Given the description of an element on the screen output the (x, y) to click on. 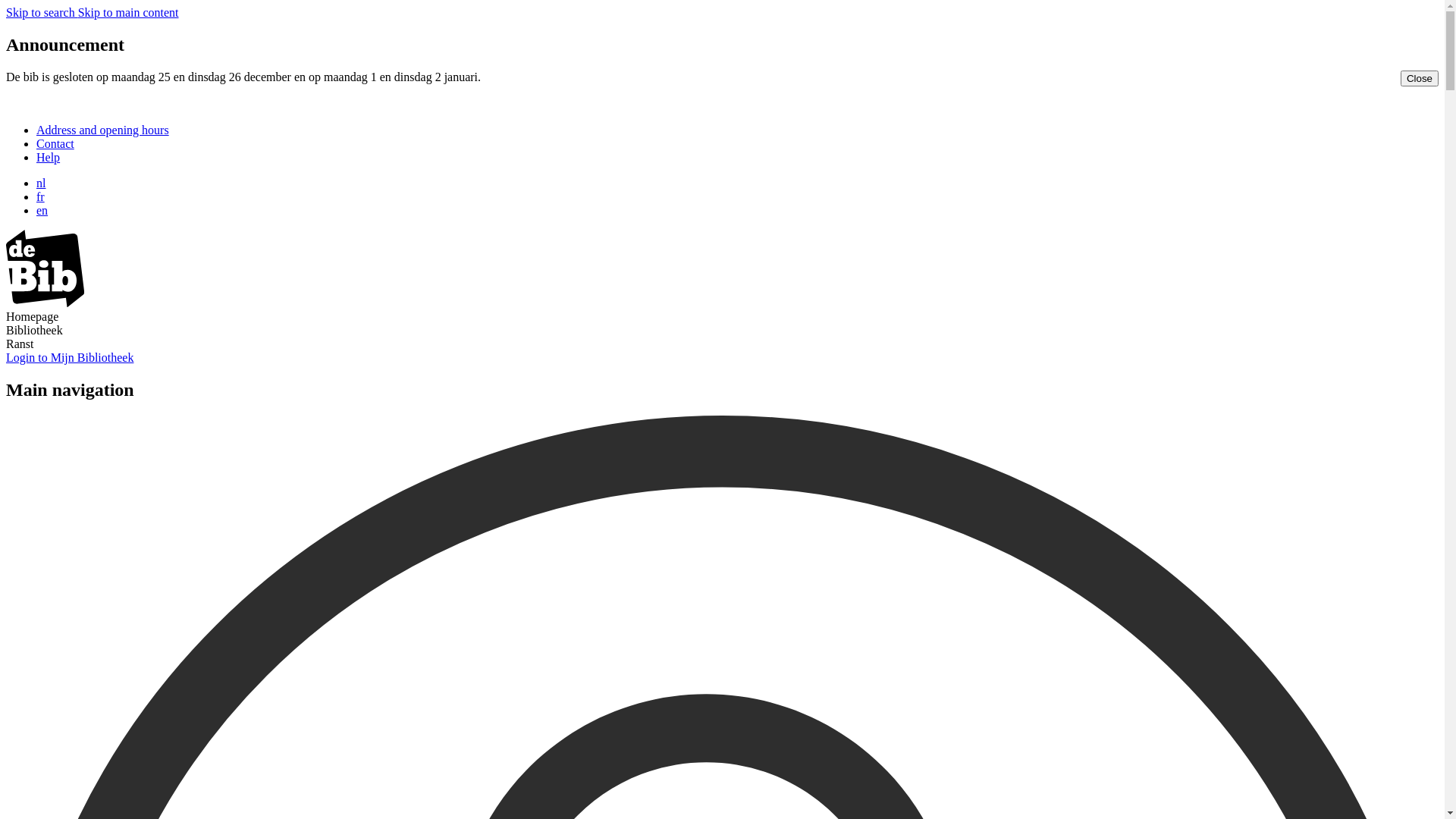
en Element type: text (41, 209)
fr Element type: text (40, 196)
Skip to main content Element type: text (128, 12)
Close Element type: text (1419, 78)
nl Element type: text (40, 182)
image/svg+xml Element type: text (45, 302)
Skip to search Element type: text (42, 12)
Help Element type: text (47, 156)
Address and opening hours Element type: text (102, 129)
Contact Element type: text (55, 143)
Login to Mijn Bibliotheek Element type: text (69, 357)
